Given the description of an element on the screen output the (x, y) to click on. 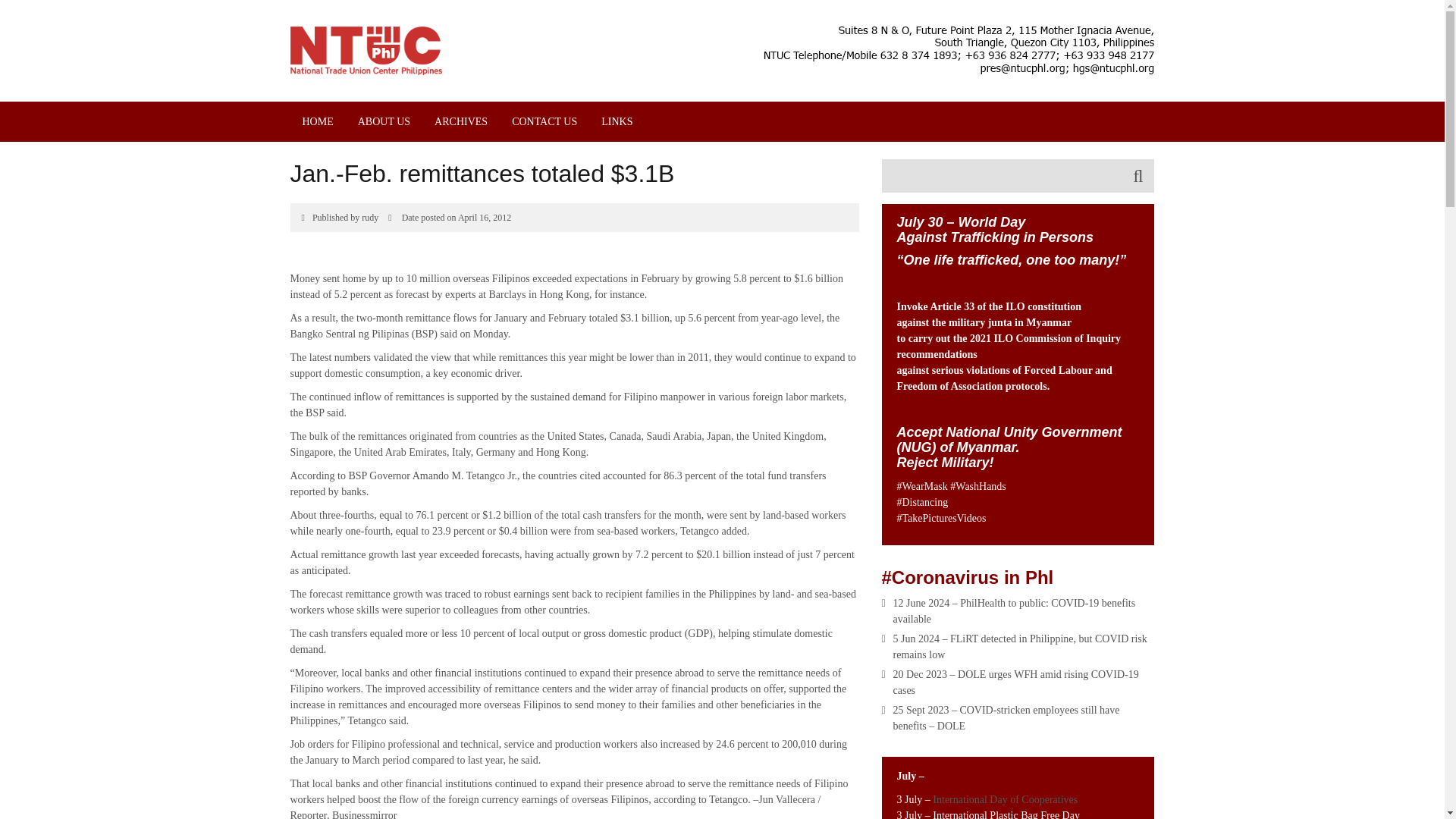
CONTACT US (544, 121)
HOME (317, 121)
LINKS (617, 121)
ABOUT US (384, 121)
International Day of Cooperatives  (1006, 799)
ARCHIVES (460, 121)
